Given the description of an element on the screen output the (x, y) to click on. 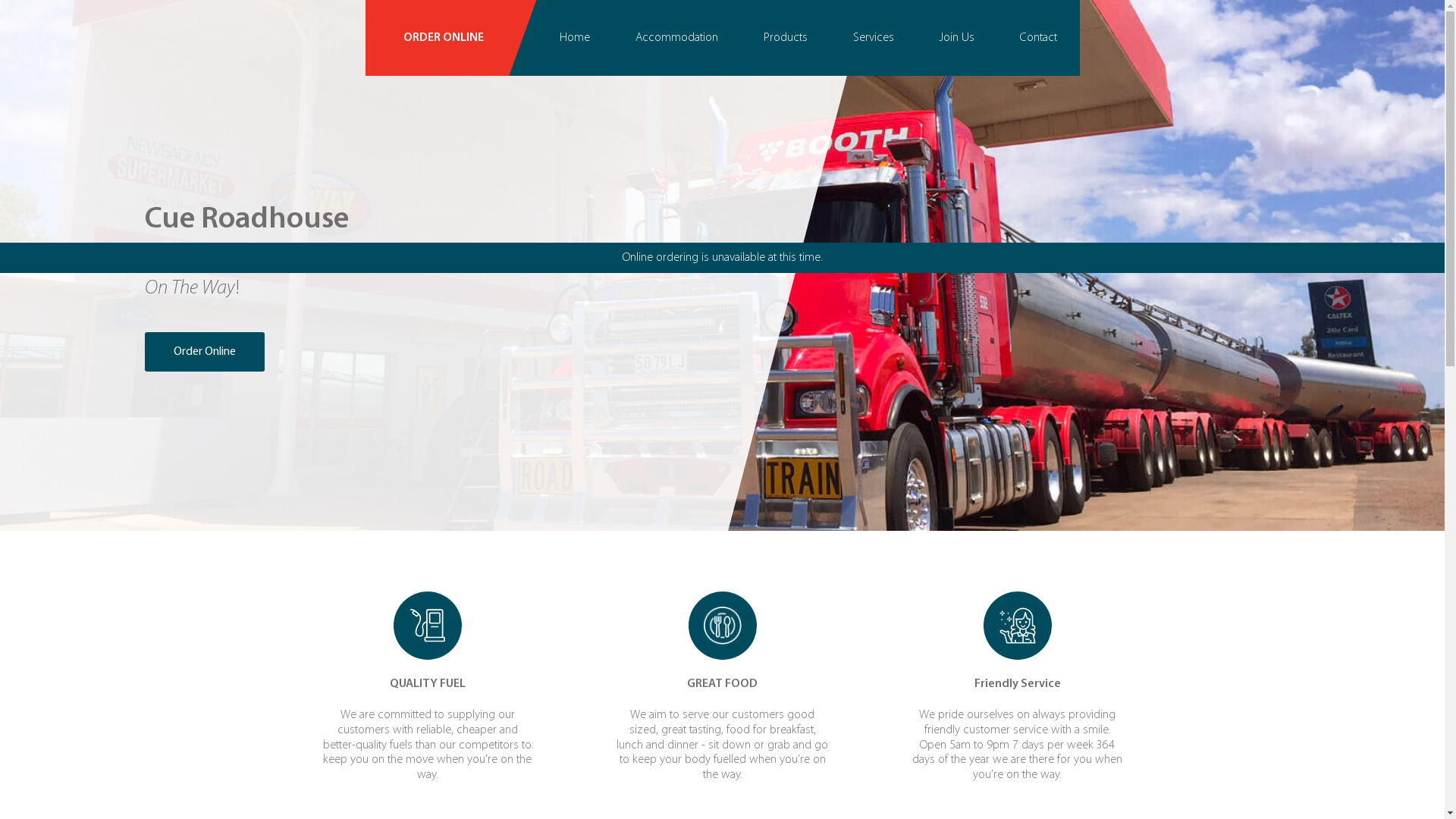
Order Online Element type: text (203, 351)
ORDER ONLINE Element type: text (450, 37)
Join Us Element type: text (956, 37)
Services Element type: text (872, 37)
Products Element type: text (784, 37)
Accommodation Element type: text (676, 37)
Contact Element type: text (1037, 37)
Home Element type: text (574, 37)
